Given the description of an element on the screen output the (x, y) to click on. 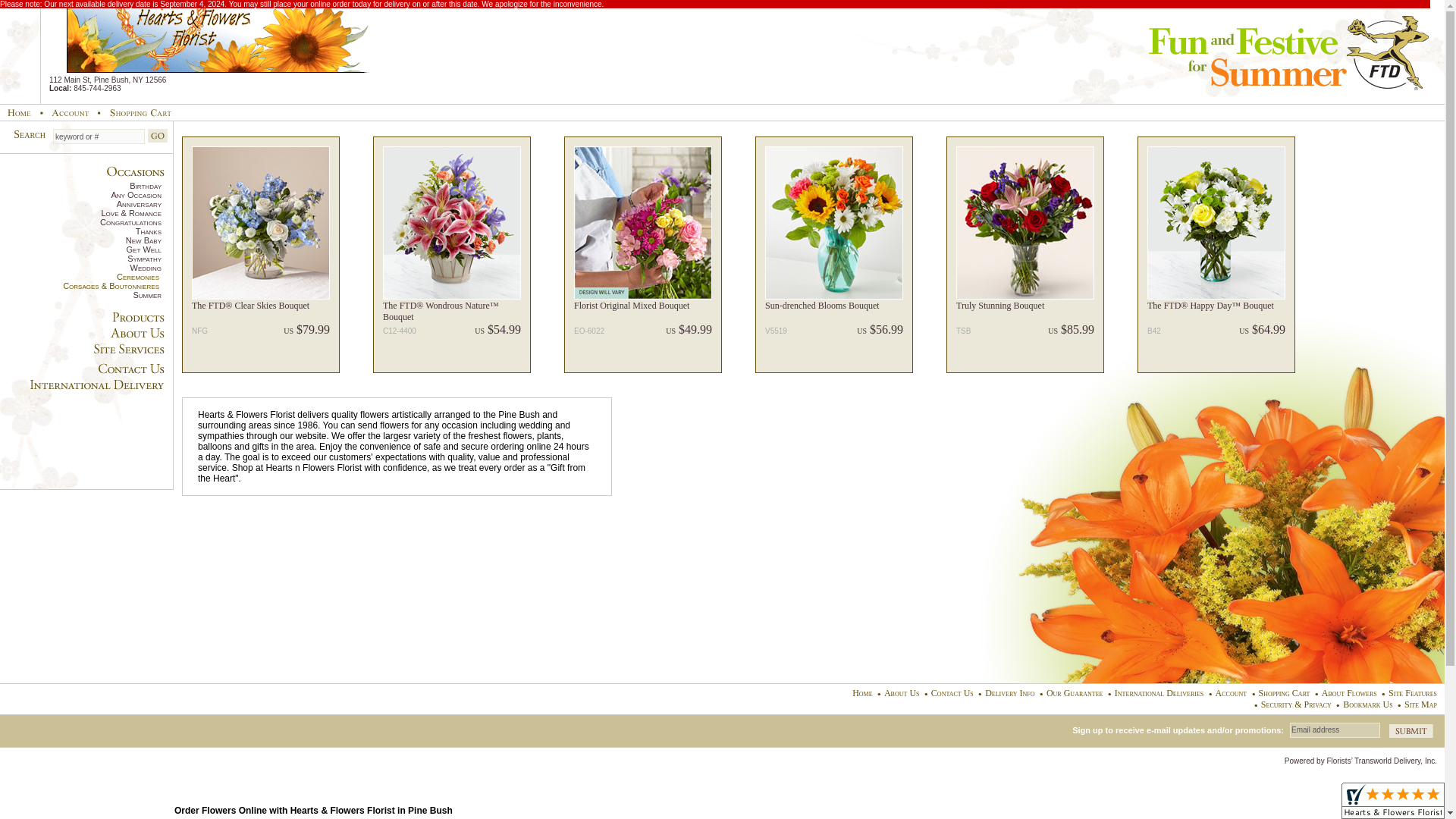
Thanks (80, 230)
Wedding (80, 266)
Any Occasion (80, 194)
Anniversary (80, 203)
Ceremonies (79, 276)
New Baby (80, 239)
Birthday (80, 185)
Get Well (80, 248)
Summer (80, 294)
Email address (1335, 729)
